Given the description of an element on the screen output the (x, y) to click on. 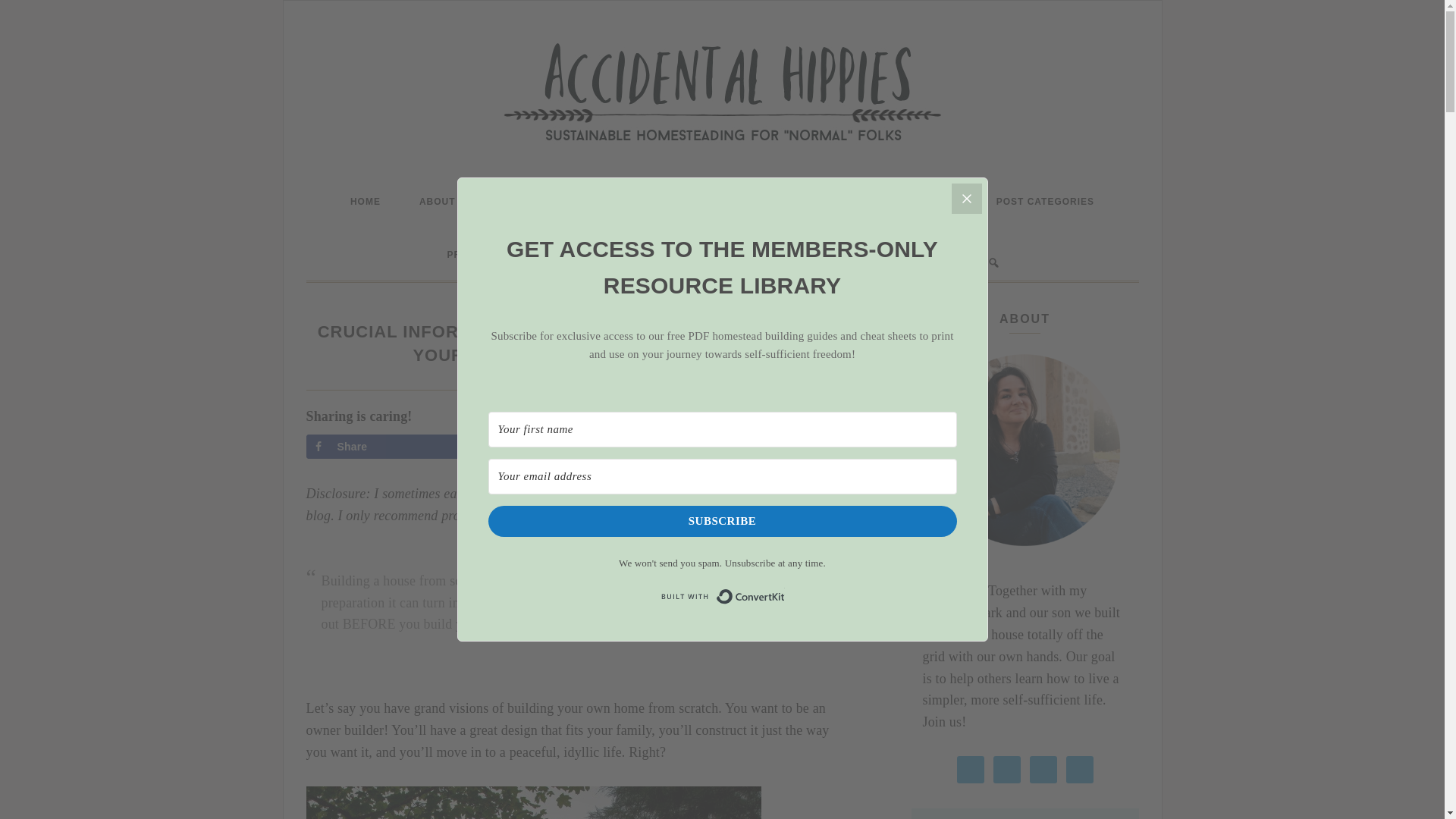
ABOUT US (446, 201)
Share (384, 446)
Share on Facebook (384, 446)
Email (716, 446)
PRODUCT RECOMMENDATIONS (526, 255)
Pin (549, 446)
GUIDES YOU NEED (740, 201)
Send over email (716, 446)
THE RESOURCE LIBRARY (892, 201)
HOME (364, 201)
POST CATEGORIES (1044, 201)
OUR HOMESTEAD PROJECT (582, 201)
EMILY (618, 382)
Learn more. (713, 515)
